Given the description of an element on the screen output the (x, y) to click on. 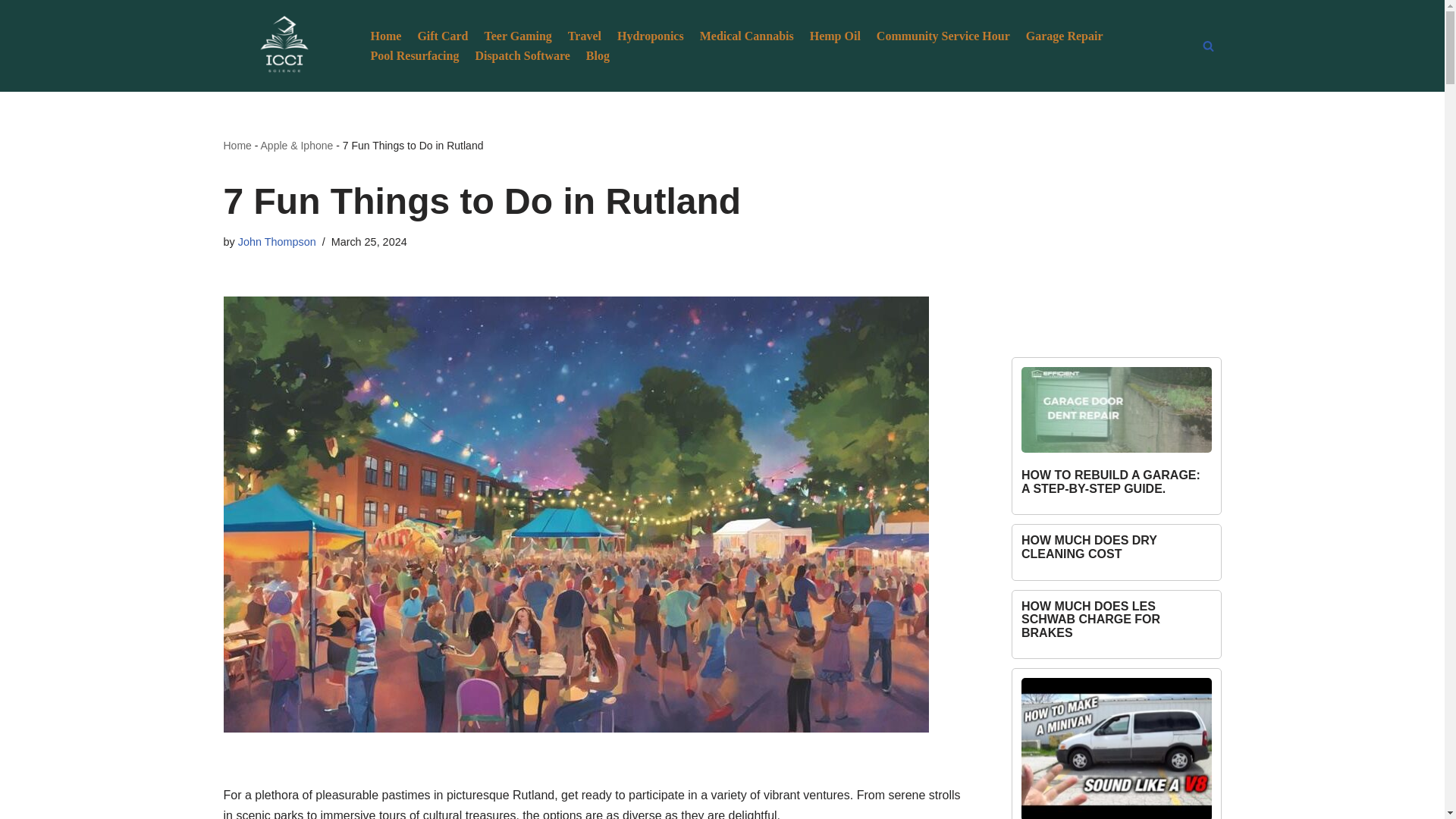
Travel (584, 35)
Gift Card (441, 35)
Home (236, 145)
Hemp Oil (834, 35)
Medical Cannabis (746, 35)
Pool Resurfacing (413, 55)
Dispatch Software (521, 55)
John Thompson (276, 241)
Teer Gaming (517, 35)
Garage Repair (1064, 35)
Blog (598, 55)
Home (385, 35)
Community Service Hour (943, 35)
Hydroponics (650, 35)
Skip to content (11, 31)
